Given the description of an element on the screen output the (x, y) to click on. 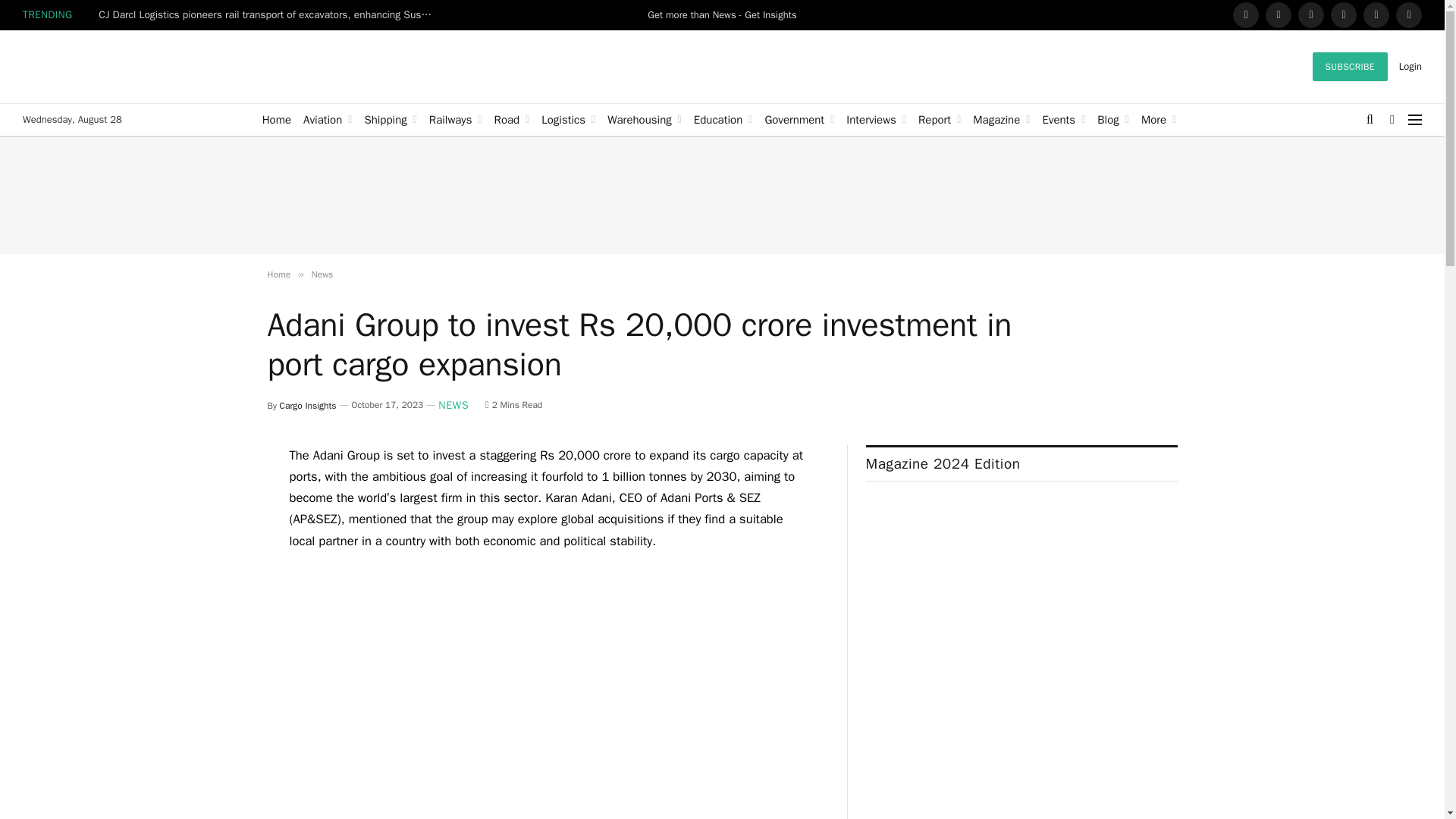
Home (276, 119)
Login (1410, 65)
Aviation (327, 119)
Cargo Insights (136, 66)
Instagram (1343, 14)
Pinterest (1375, 14)
Facebook (1246, 14)
SUBSCRIBE (1350, 66)
LinkedIn (1310, 14)
